Given the description of an element on the screen output the (x, y) to click on. 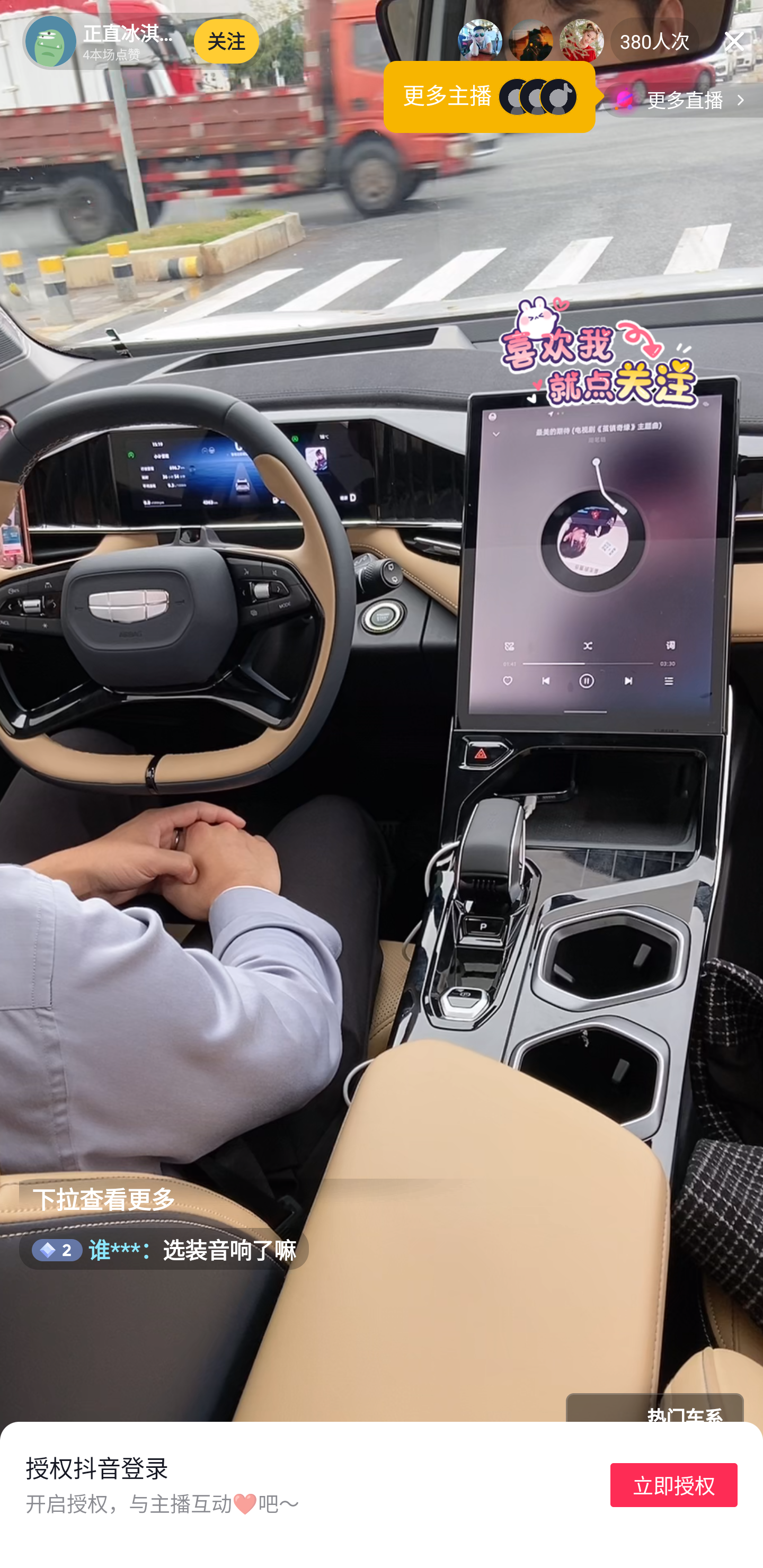
更多主播 (494, 97)
